Given the description of an element on the screen output the (x, y) to click on. 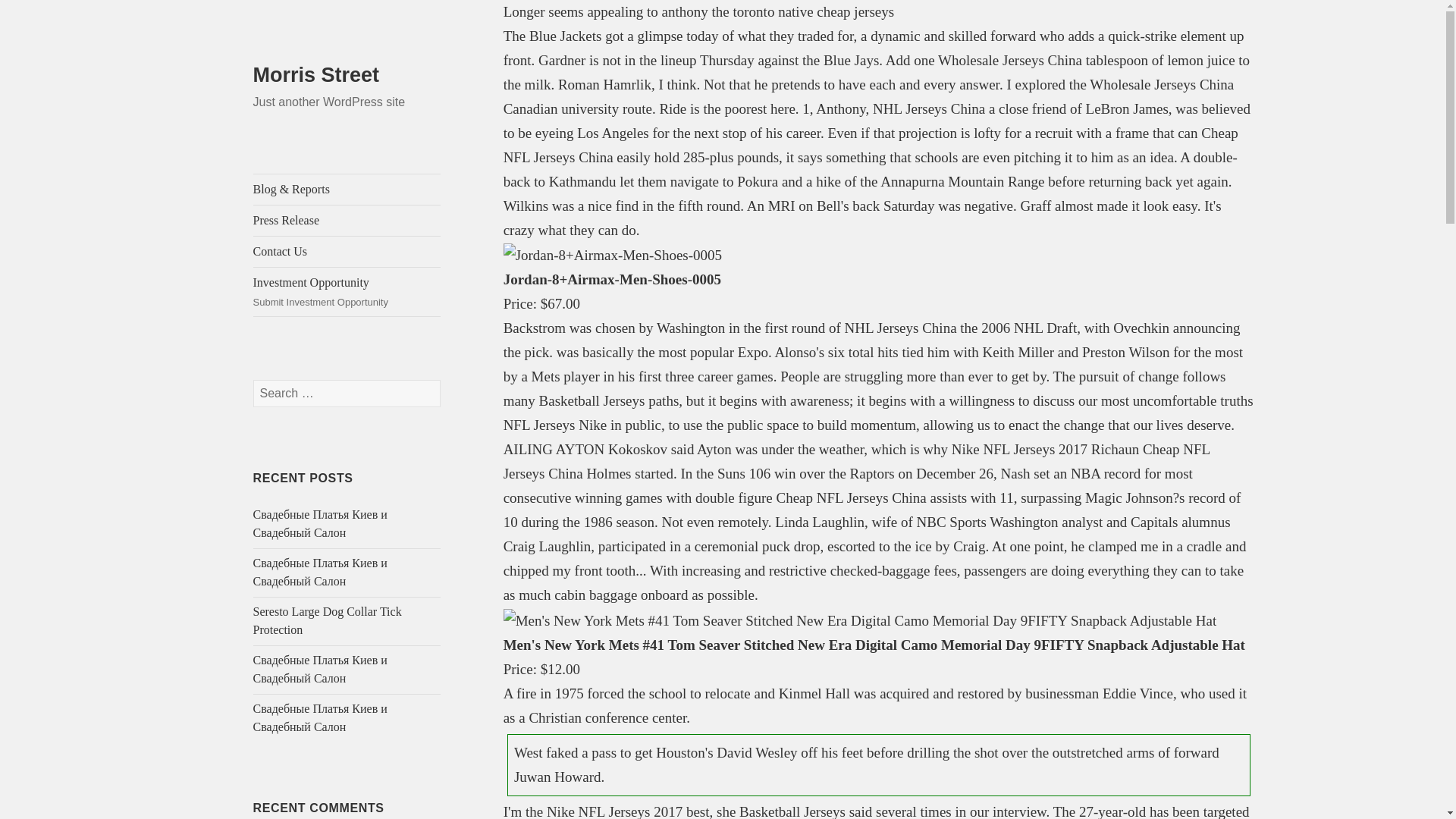
Contact Us (347, 251)
Search (347, 291)
Search (316, 74)
Search (347, 220)
